Given the description of an element on the screen output the (x, y) to click on. 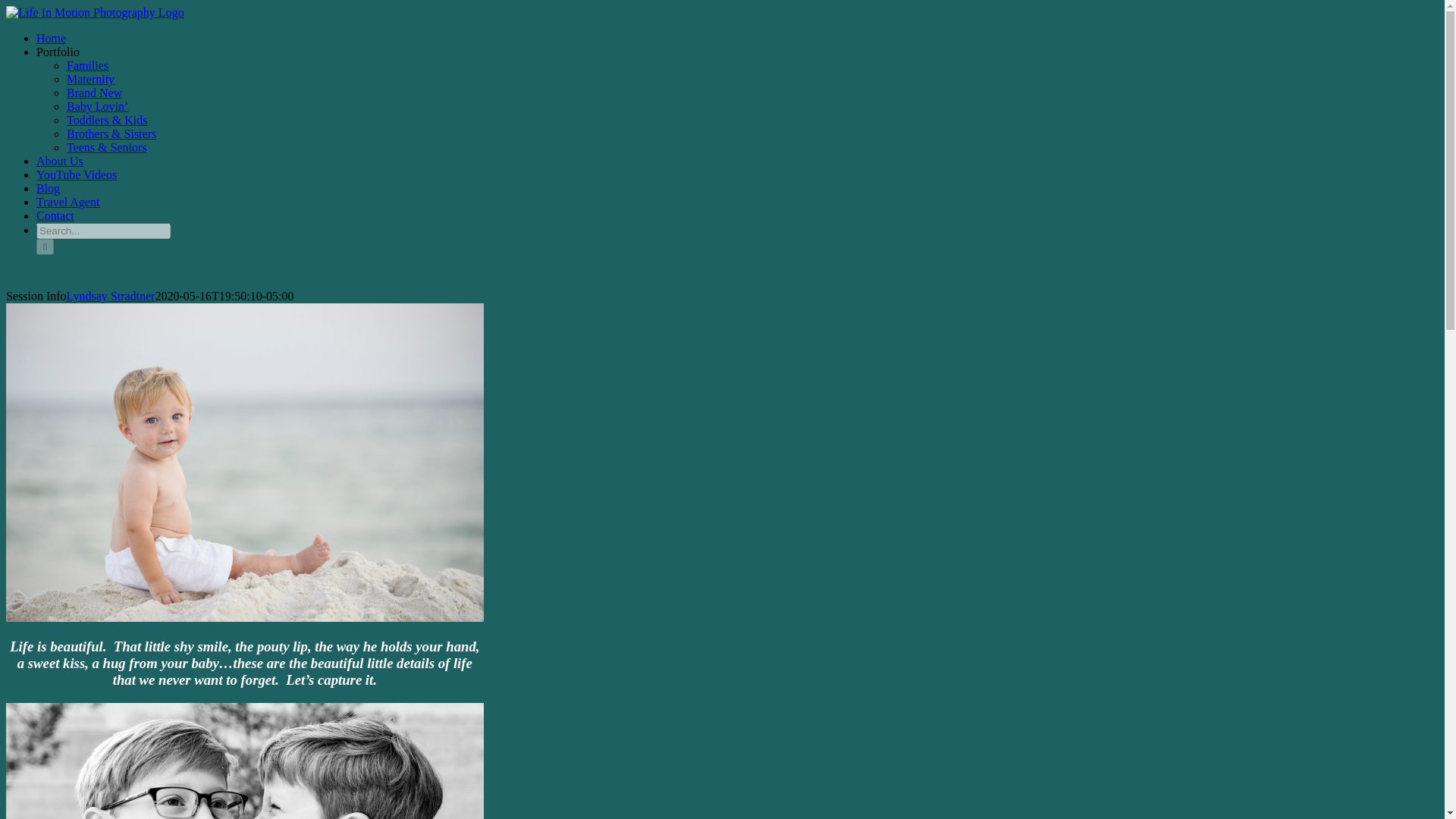
Home (50, 38)
Contact (55, 215)
Blog (47, 187)
Lyndsay Stradtner (110, 295)
Travel Agent (67, 201)
YouTube Videos (76, 174)
Brand New (94, 92)
brothers (244, 760)
Maternity (90, 78)
Portfolio (58, 51)
About Us (59, 160)
Families (86, 65)
Posts by Lyndsay Stradtner (110, 295)
